Given the description of an element on the screen output the (x, y) to click on. 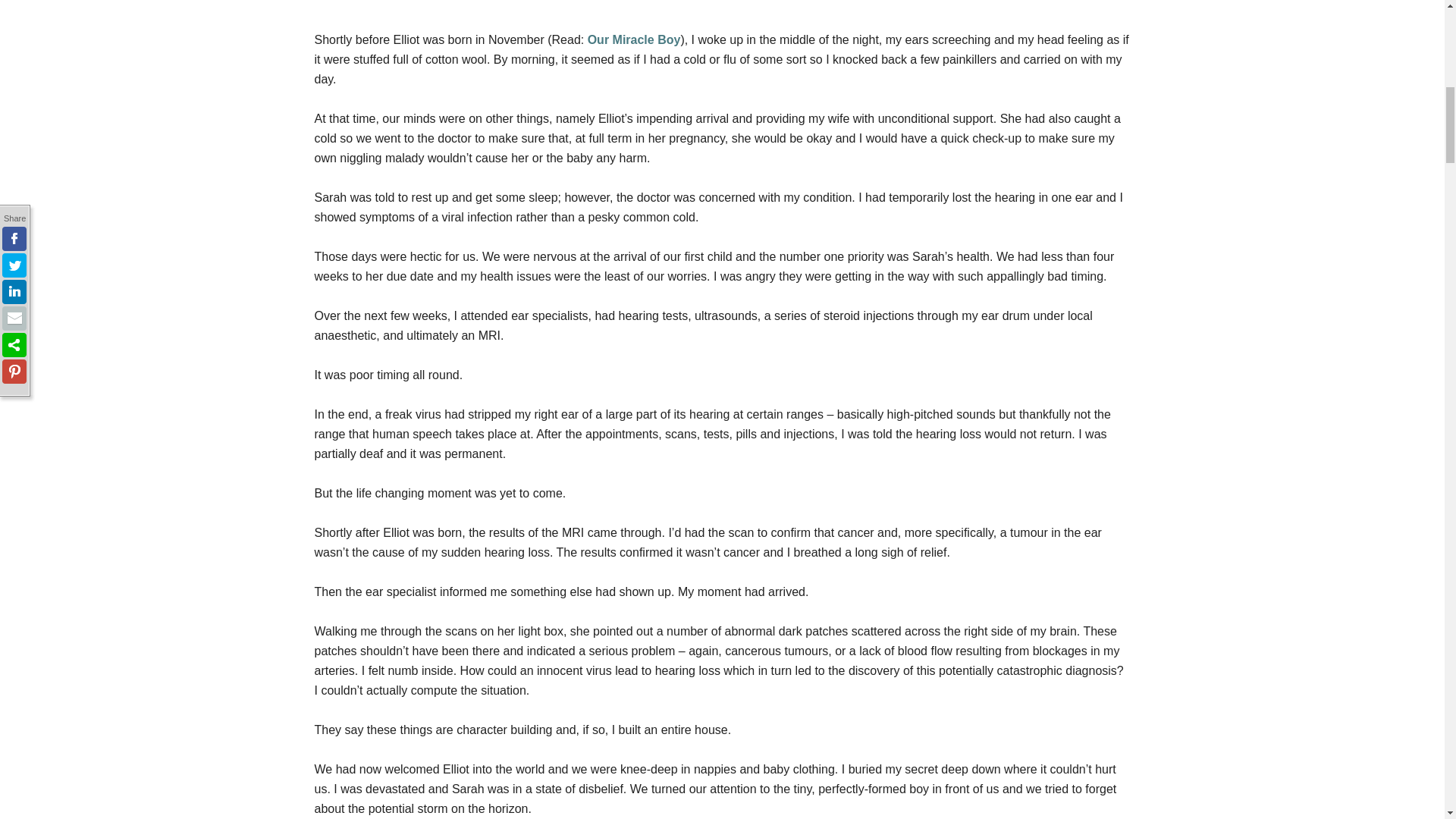
Our Miracle Boy (634, 39)
